Given the description of an element on the screen output the (x, y) to click on. 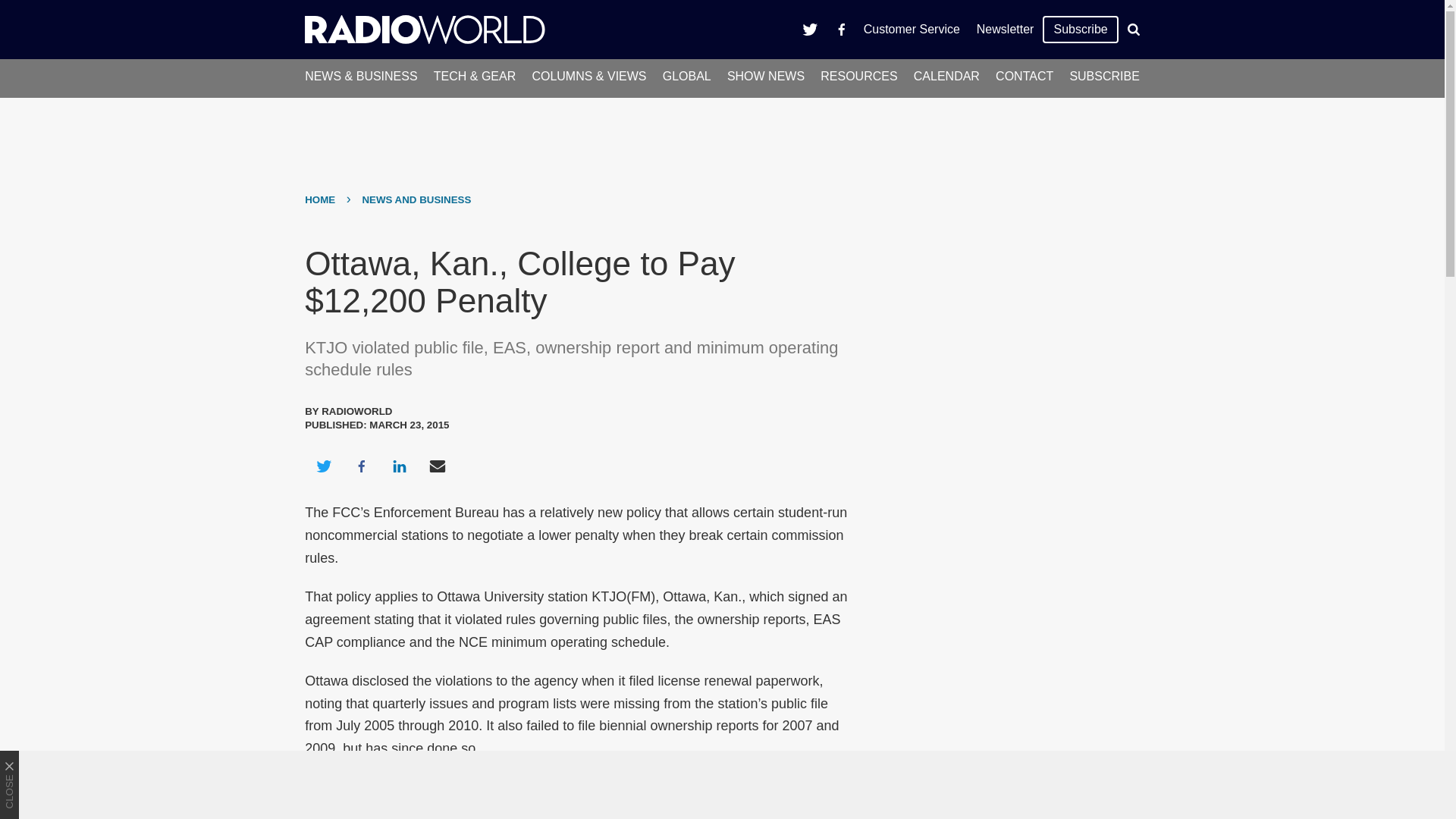
Share via Email (438, 466)
Share on Twitter (323, 466)
Customer Service (912, 29)
Newsletter (1005, 29)
Share on Facebook (361, 466)
Share on LinkedIn (399, 466)
